Given the description of an element on the screen output the (x, y) to click on. 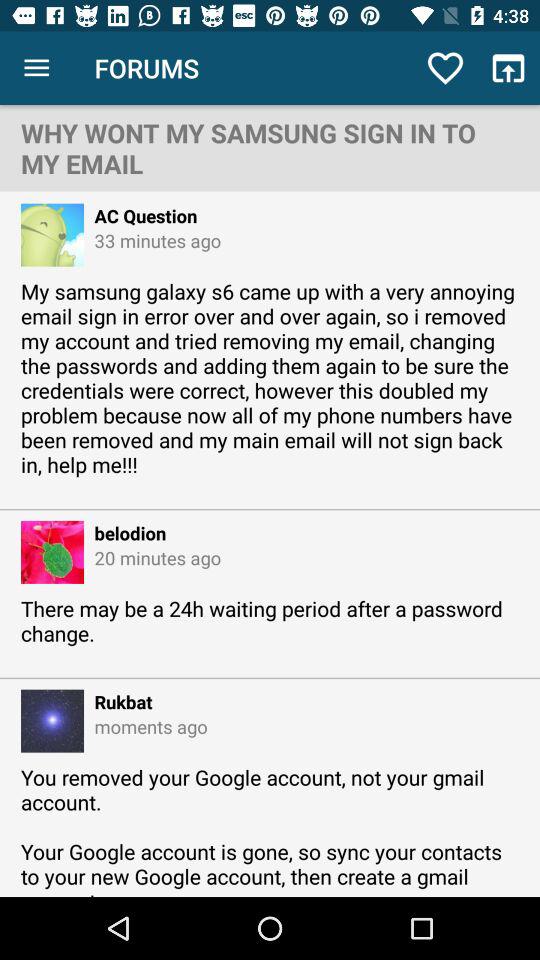
click there may be icon (270, 633)
